Given the description of an element on the screen output the (x, y) to click on. 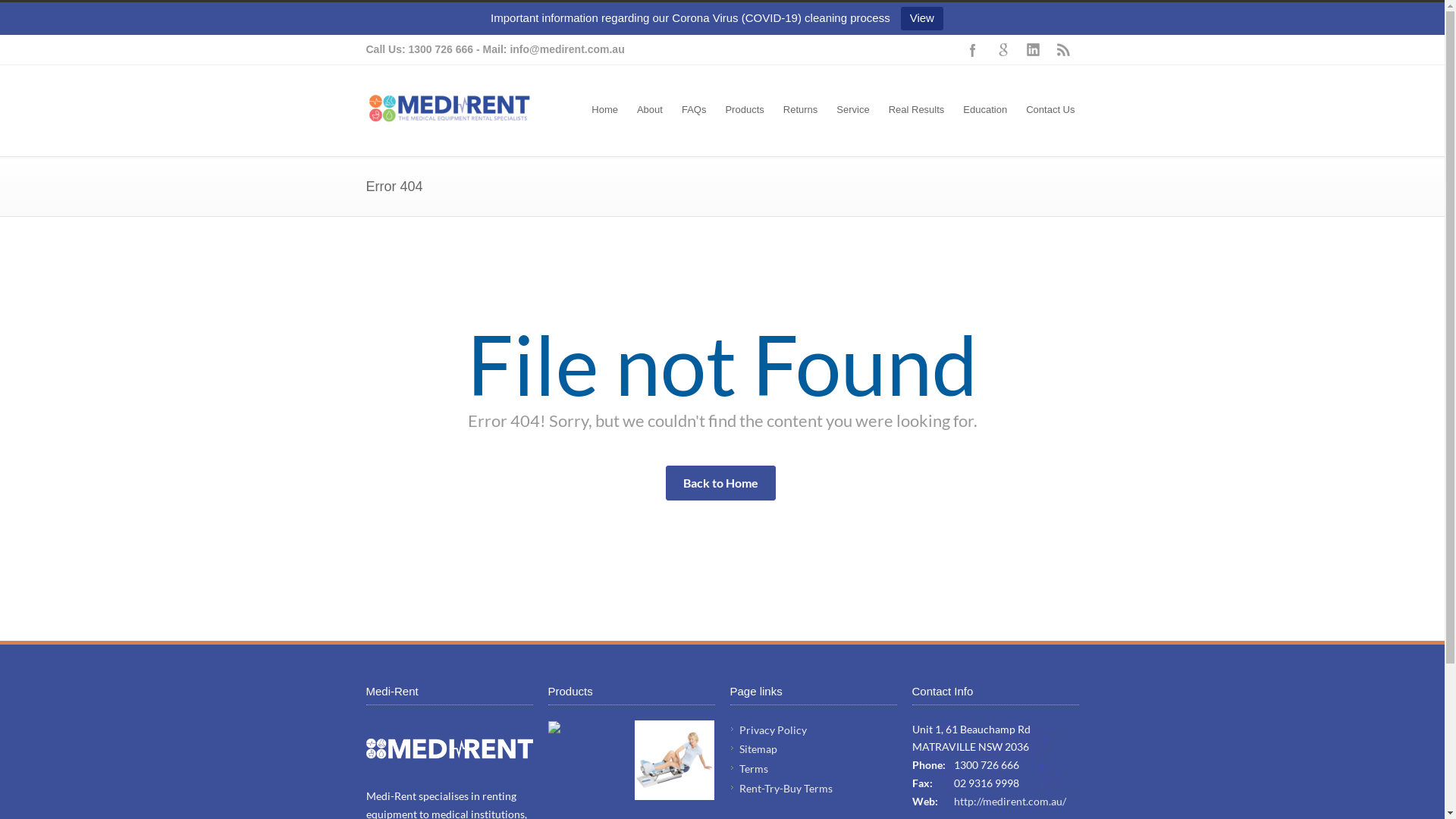
Real Results Element type: text (916, 110)
Google+ Element type: text (1002, 49)
Back to Home Element type: text (720, 482)
View Element type: text (921, 18)
RSS Element type: text (1063, 49)
Education Element type: text (984, 110)
Contact Us Element type: text (1050, 110)
About Element type: text (649, 110)
Service Element type: text (852, 110)
Home Element type: text (604, 110)
Products Element type: text (744, 110)
Sitemap Element type: text (757, 748)
Privacy Policy Element type: text (772, 729)
FAQs Element type: text (693, 110)
Facebook Element type: text (972, 49)
LinkedIn Element type: text (1032, 49)
http://medirent.com.au/ Element type: text (1009, 800)
Returns Element type: text (800, 110)
Rent-Try-Buy Terms Element type: text (784, 787)
Terms Element type: text (752, 768)
